Given the description of an element on the screen output the (x, y) to click on. 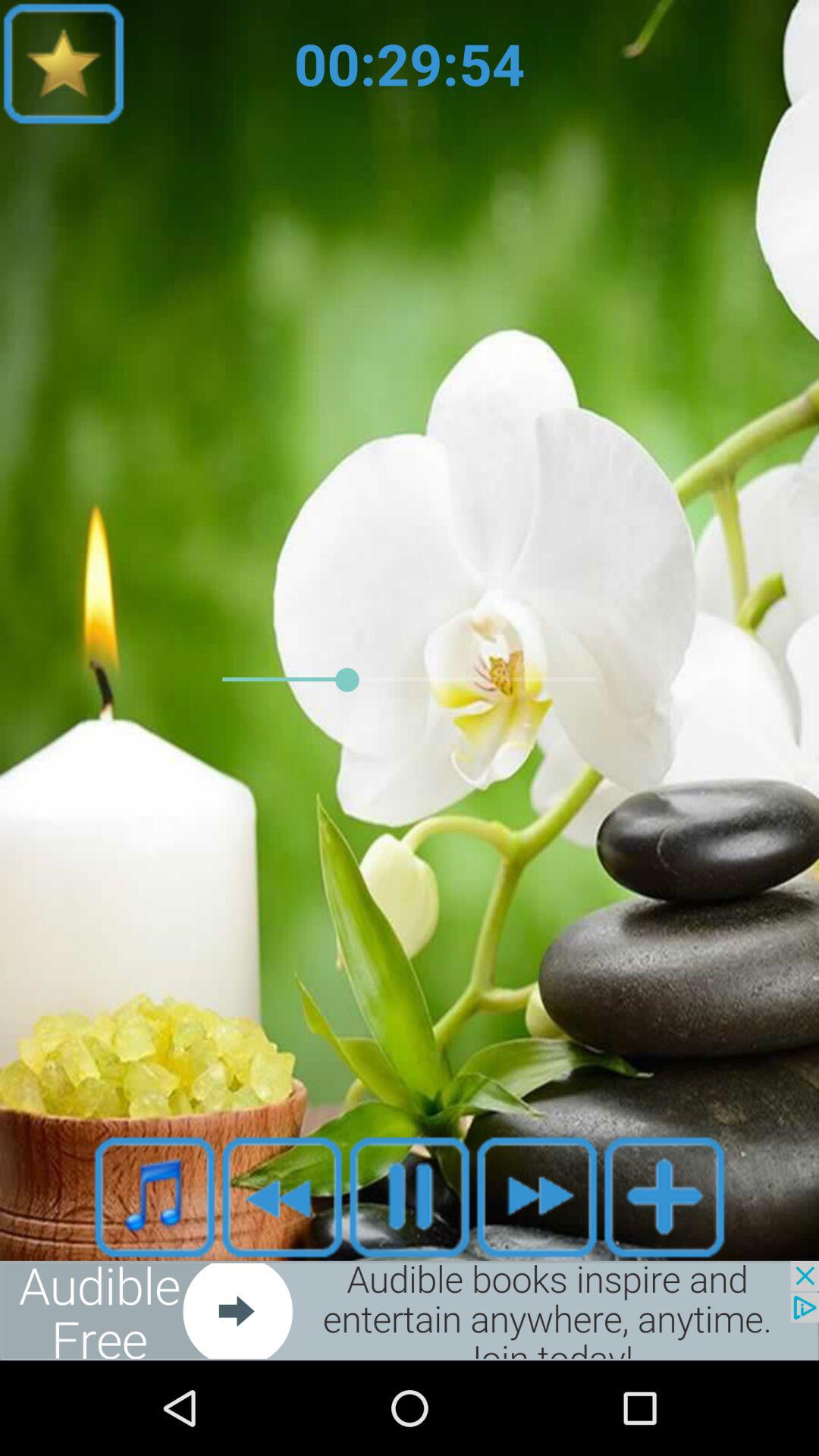
mark as favourite (281, 1196)
